Given the description of an element on the screen output the (x, y) to click on. 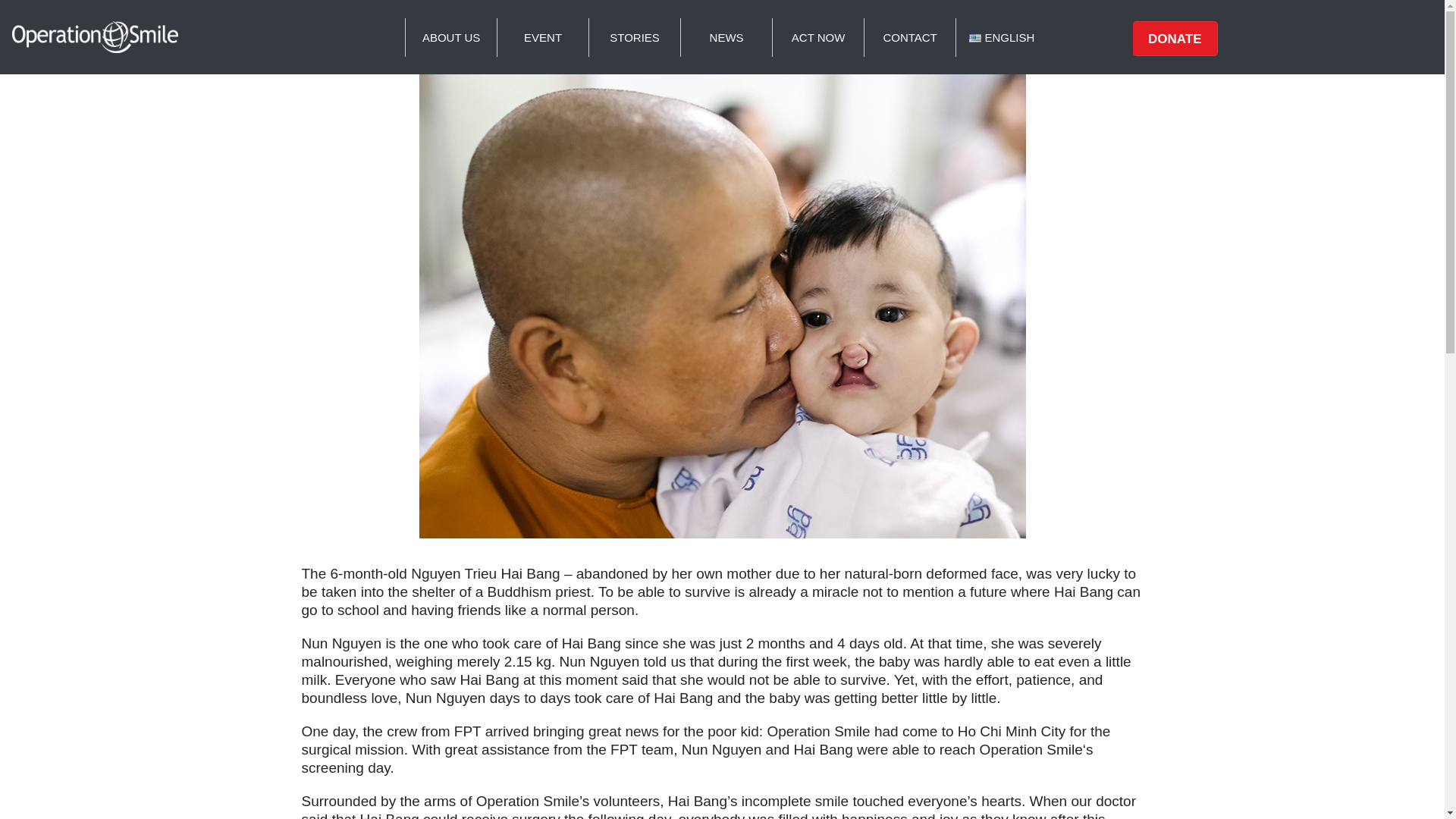
CONTACT (909, 37)
ACT NOW (818, 37)
STORIES (634, 37)
NEWS (726, 37)
ENGLISH (1001, 37)
EVENT (542, 37)
DONATE (1175, 38)
ABOUT US (451, 37)
